Given the description of an element on the screen output the (x, y) to click on. 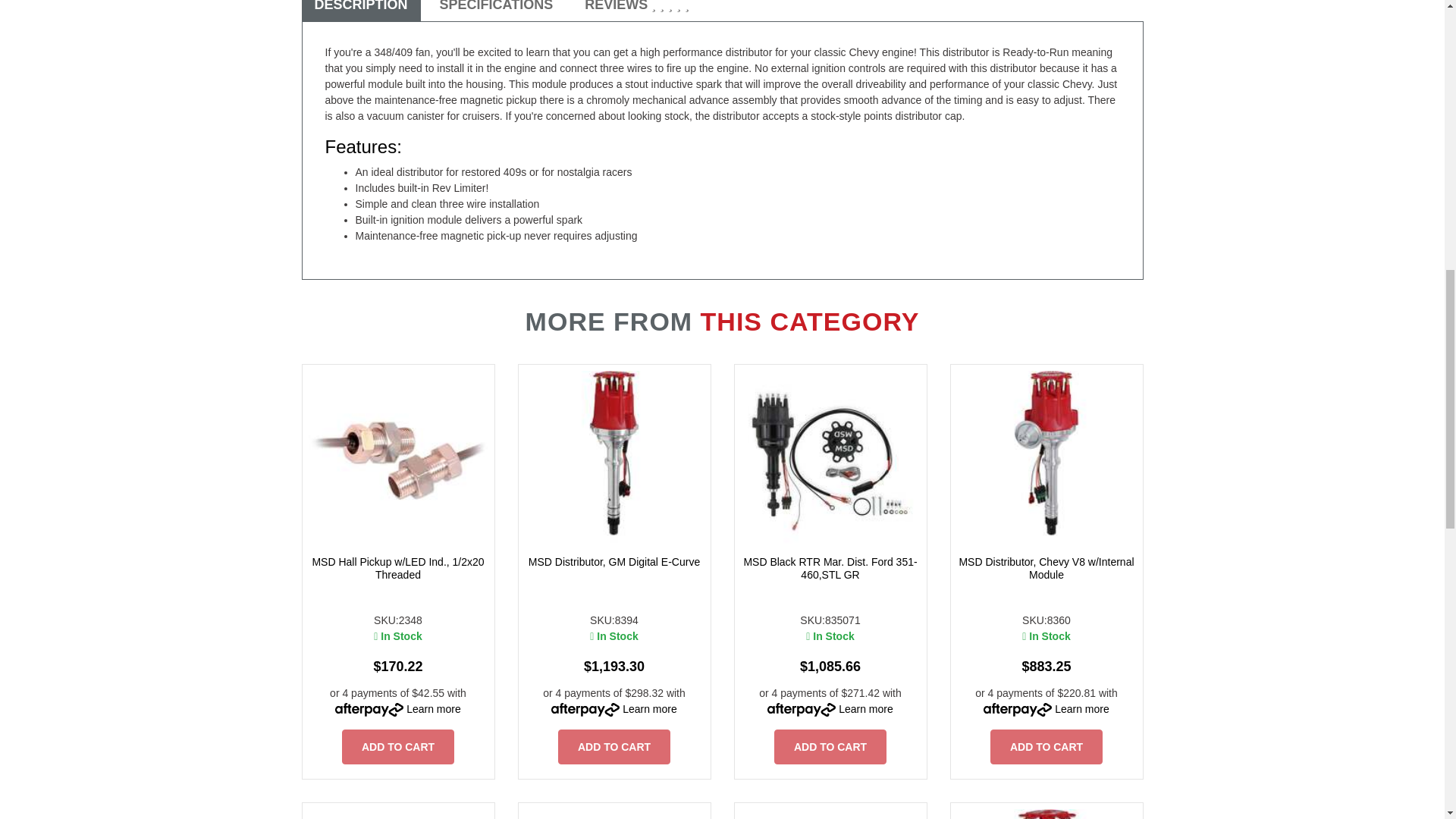
Add MSD Black RTR Mar. Dist. Ford 351-460,STL GR to Cart (830, 746)
Add MSD Distributor, GM Digital E-Curve to Cart (613, 746)
